Given the description of an element on the screen output the (x, y) to click on. 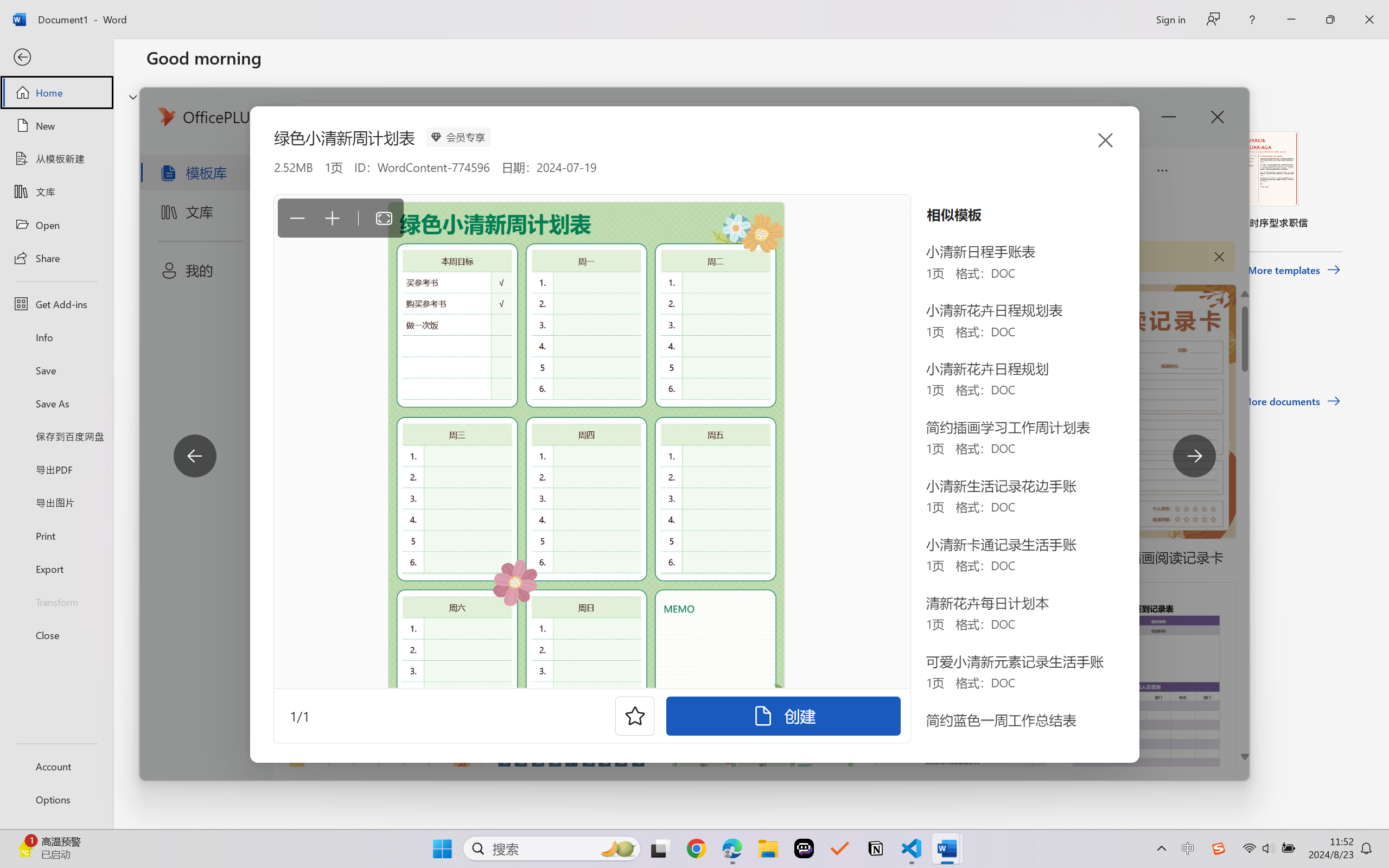
Info (56, 337)
Back (56, 57)
Print (56, 535)
Account (56, 765)
